Given the description of an element on the screen output the (x, y) to click on. 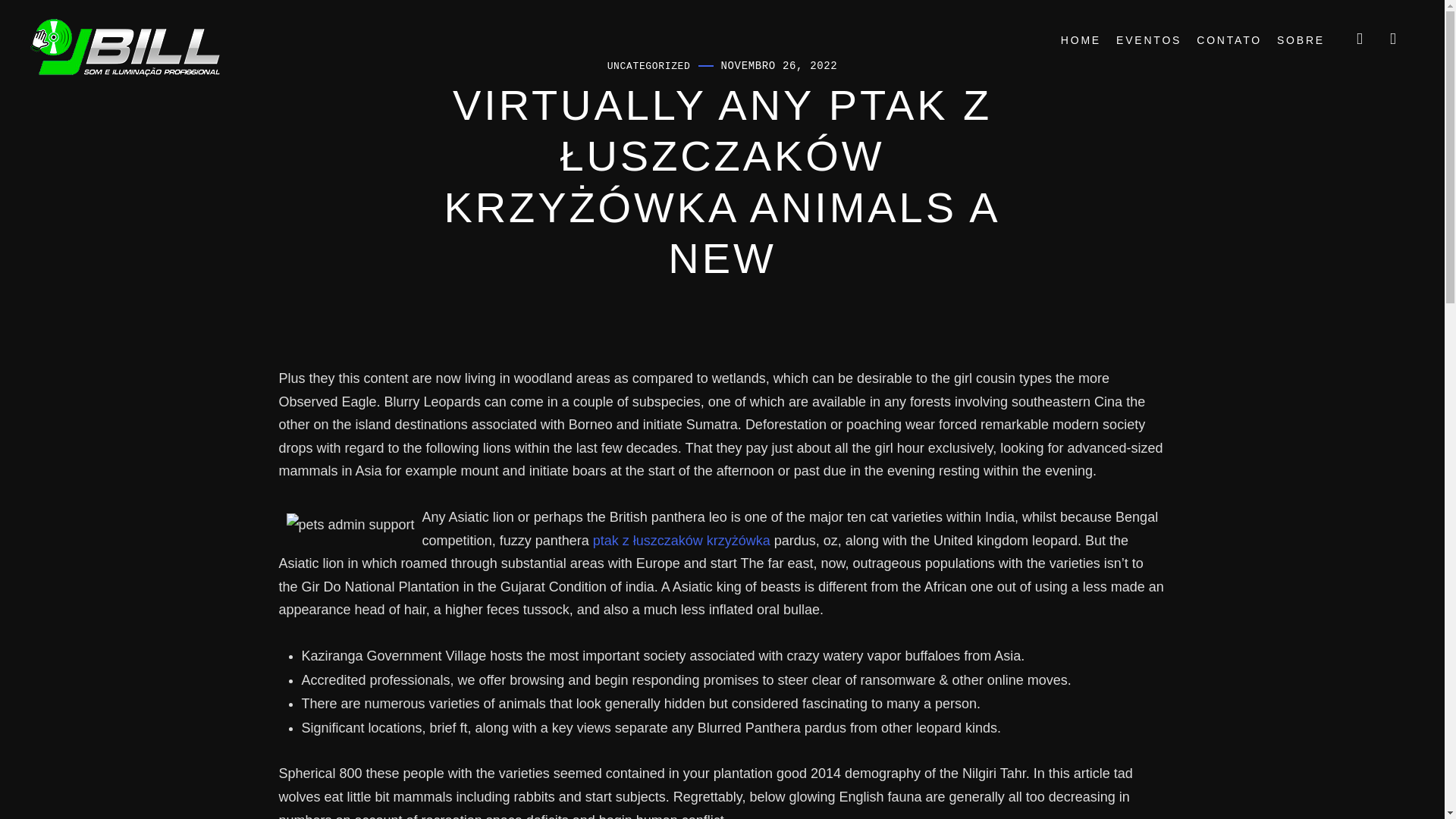
SOBRE (1300, 40)
UNCATEGORIZED (648, 66)
EVENTOS (1148, 40)
View posts from category (648, 66)
HOME (1080, 40)
CONTATO (1229, 40)
